Given the description of an element on the screen output the (x, y) to click on. 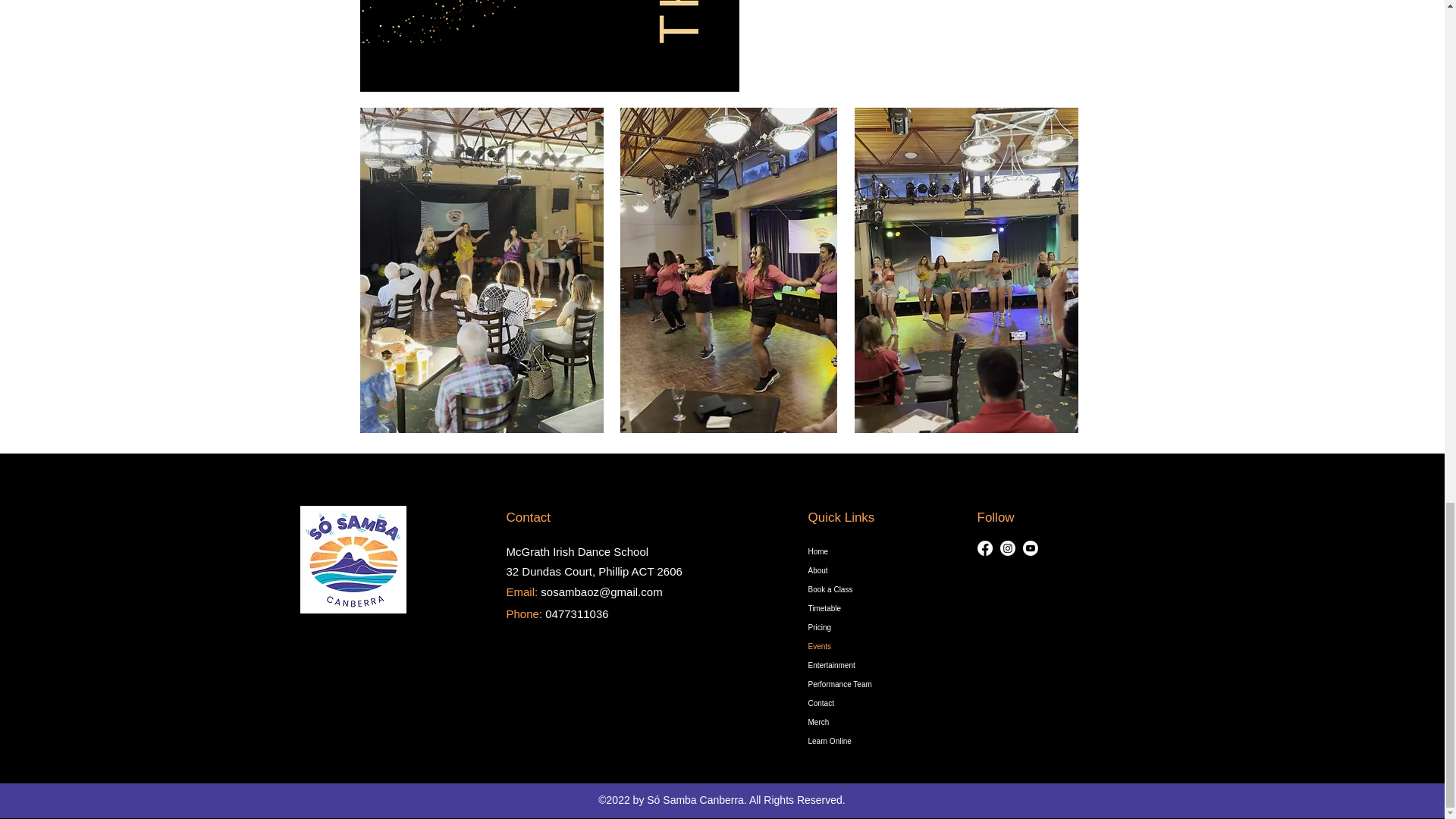
Home (880, 551)
Book a Class (880, 588)
Learn Online (880, 741)
Merch (880, 722)
Contact (880, 702)
Pricing (880, 627)
Performance Team (880, 683)
Events (880, 646)
Timetable (880, 608)
Entertainment (880, 665)
